Given the description of an element on the screen output the (x, y) to click on. 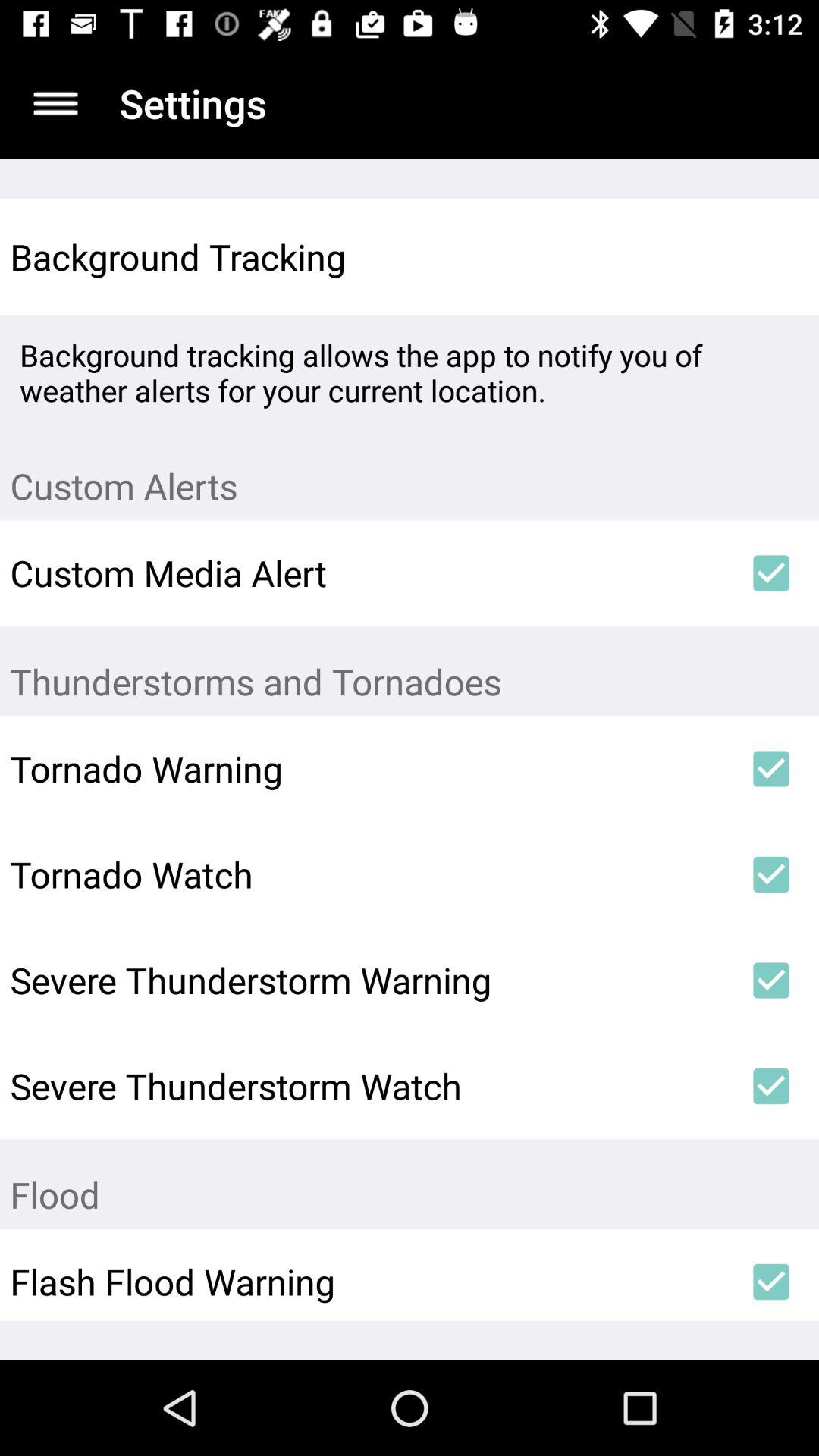
tap the item below the custom alerts item (771, 573)
